Given the description of an element on the screen output the (x, y) to click on. 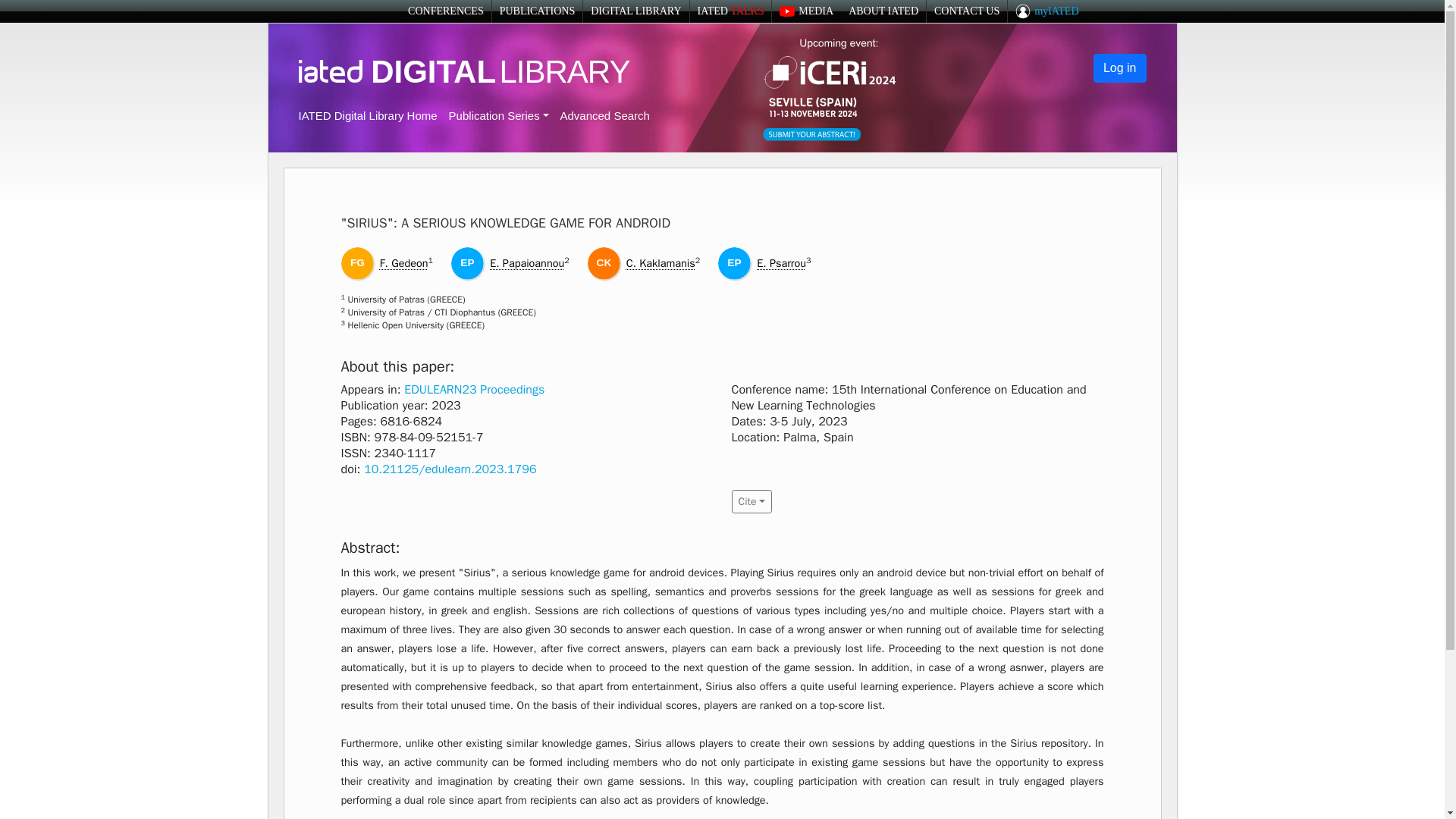
EDULEARN23 Proceedings (474, 389)
DIGITAL LIBRARY (636, 10)
IATED Digital Library Home (368, 115)
E. Papaioannou (526, 263)
Log in (1120, 68)
E. Psarrou (781, 263)
IATED TALKS (730, 10)
C. Kaklamanis (660, 263)
PUBLICATIONS (537, 10)
CONTACT US (966, 10)
